Given the description of an element on the screen output the (x, y) to click on. 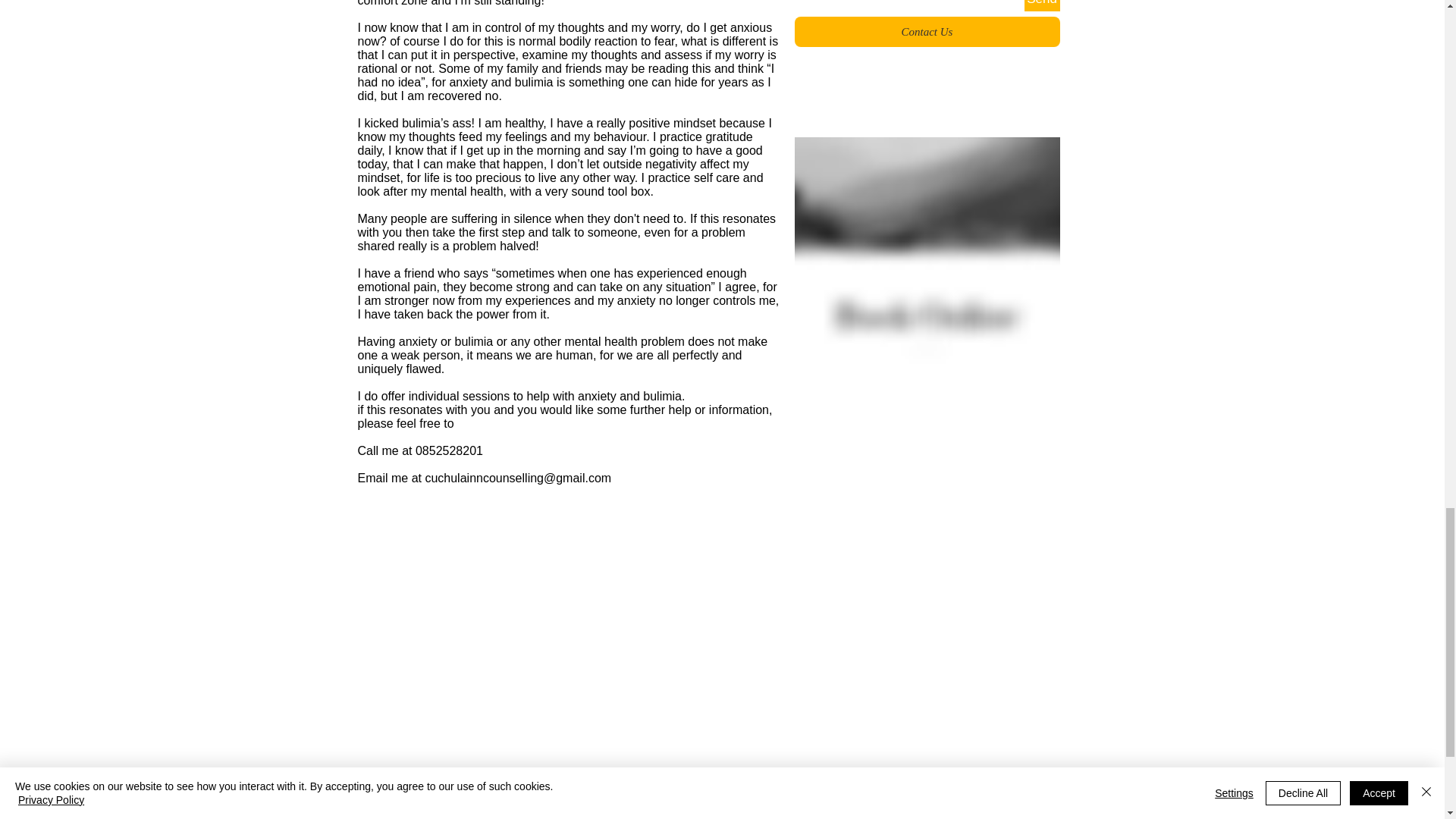
Contact Us (926, 31)
Send (1041, 5)
Embedded Content (954, 817)
